Given the description of an element on the screen output the (x, y) to click on. 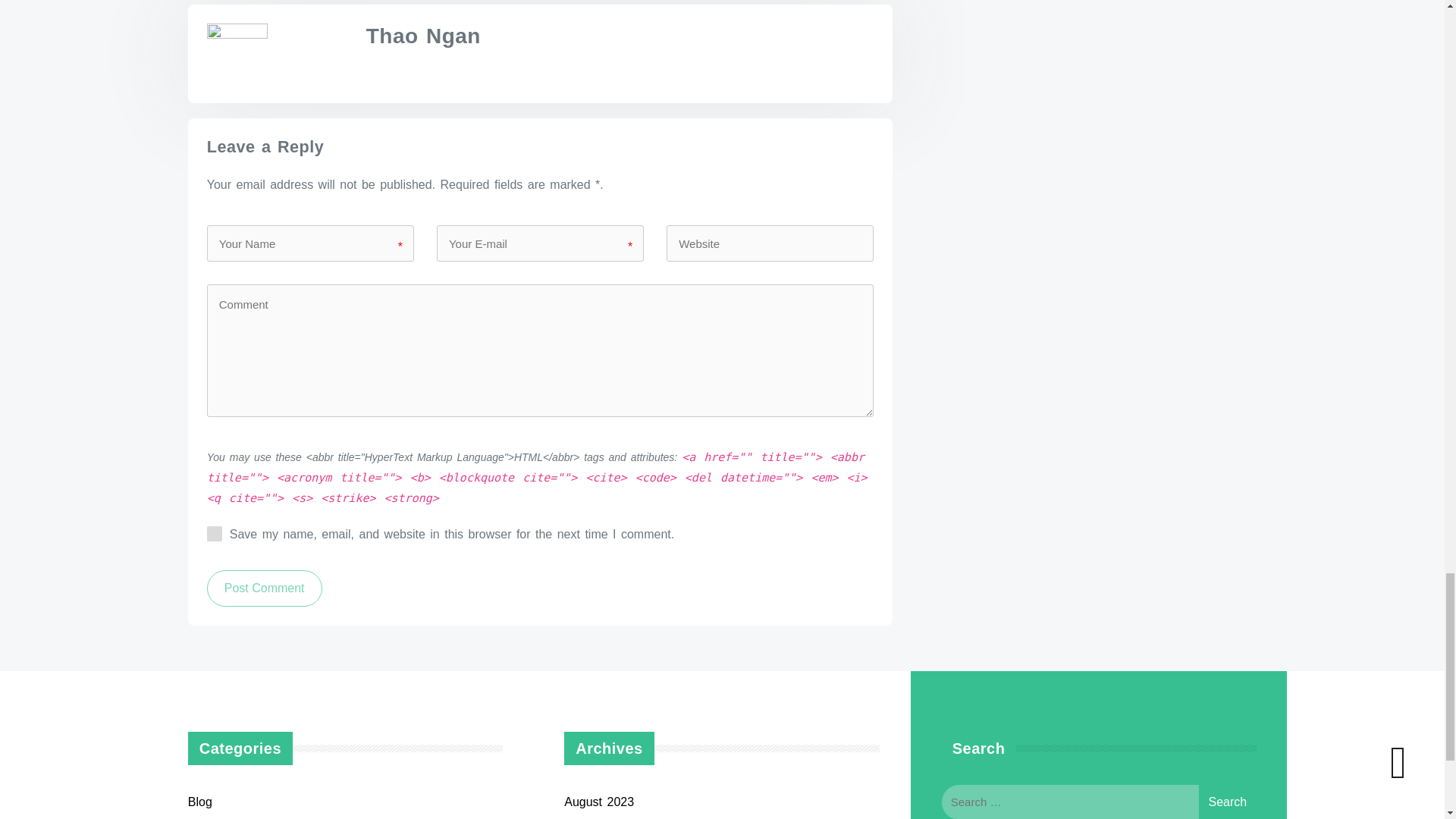
Search (1227, 801)
Search (1227, 801)
yes (214, 533)
August 2023 (598, 801)
Post Comment (263, 588)
Blog (199, 801)
Search (1227, 801)
